Given the description of an element on the screen output the (x, y) to click on. 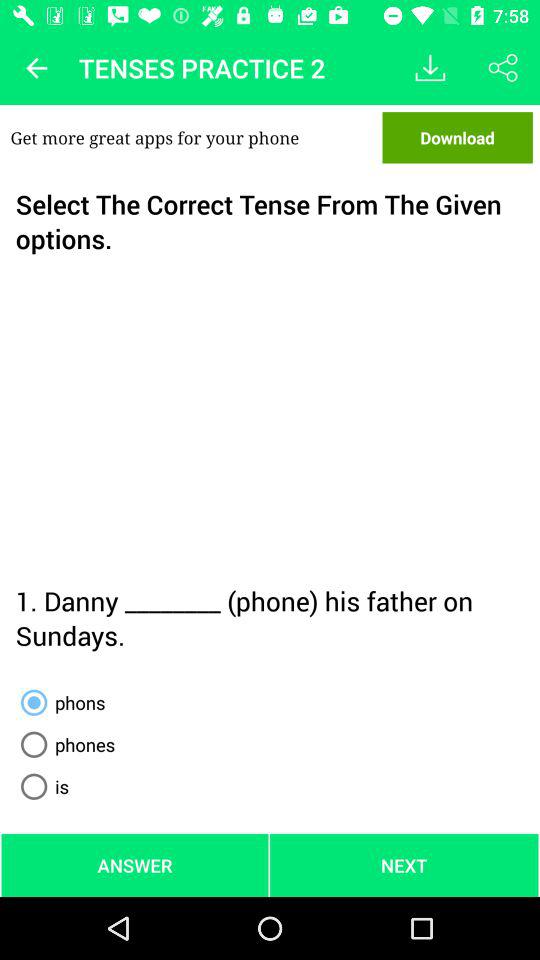
turn off icon above the answer (41, 786)
